Given the description of an element on the screen output the (x, y) to click on. 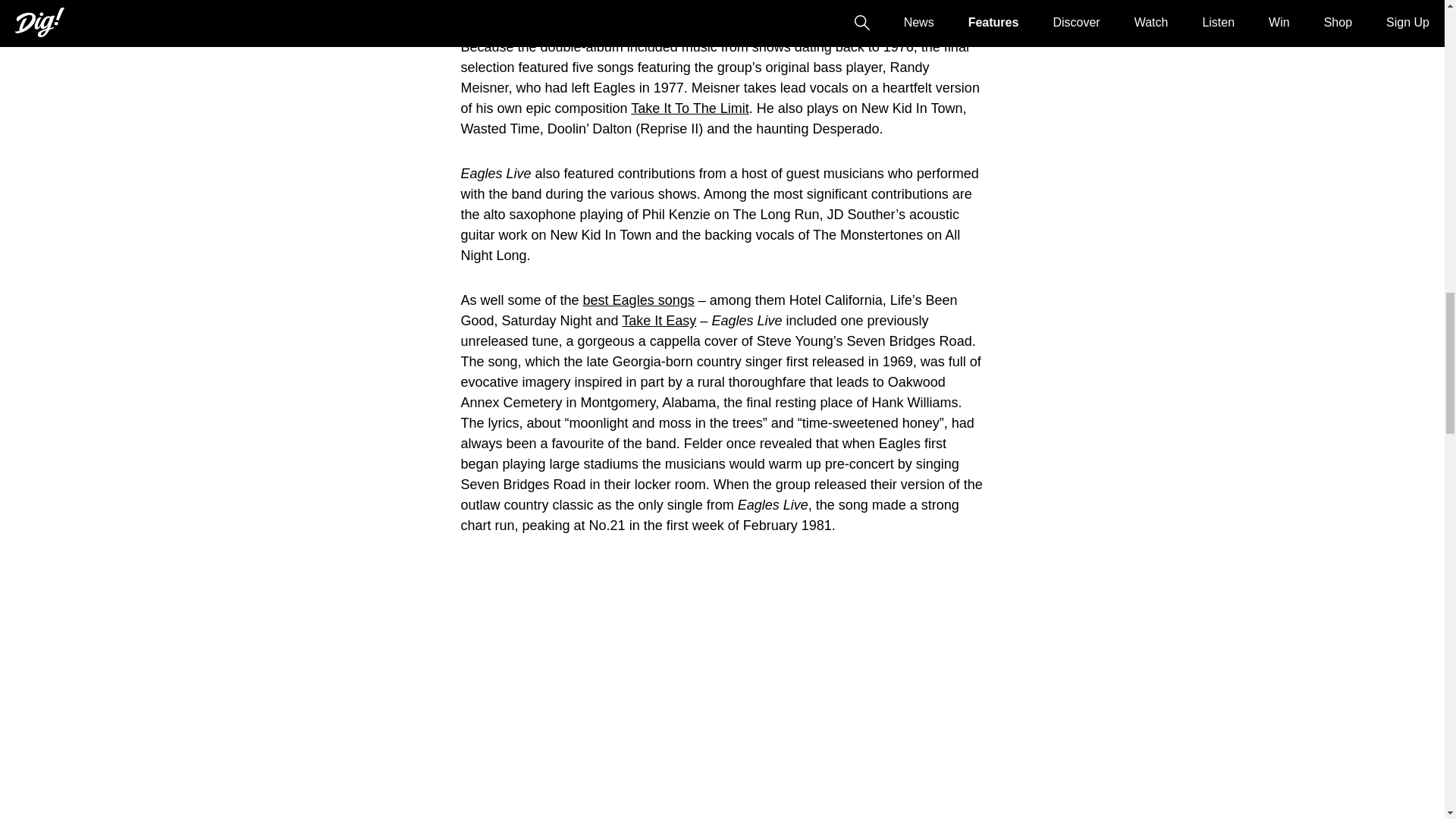
Take It To The Limit (689, 108)
best Eagles songs (638, 299)
Take It Easy (658, 320)
